Given the description of an element on the screen output the (x, y) to click on. 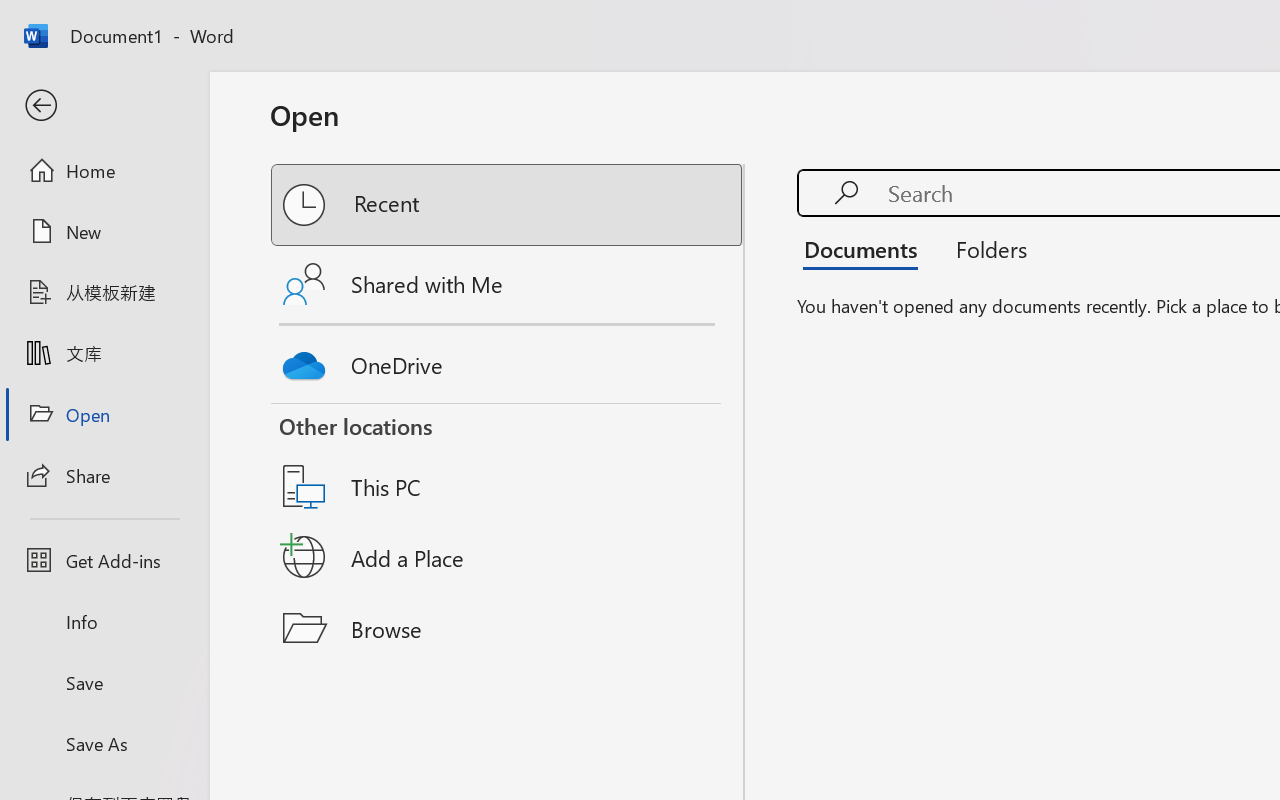
Recent (507, 205)
Back (104, 106)
Info (104, 621)
Add a Place (507, 557)
